Given the description of an element on the screen output the (x, y) to click on. 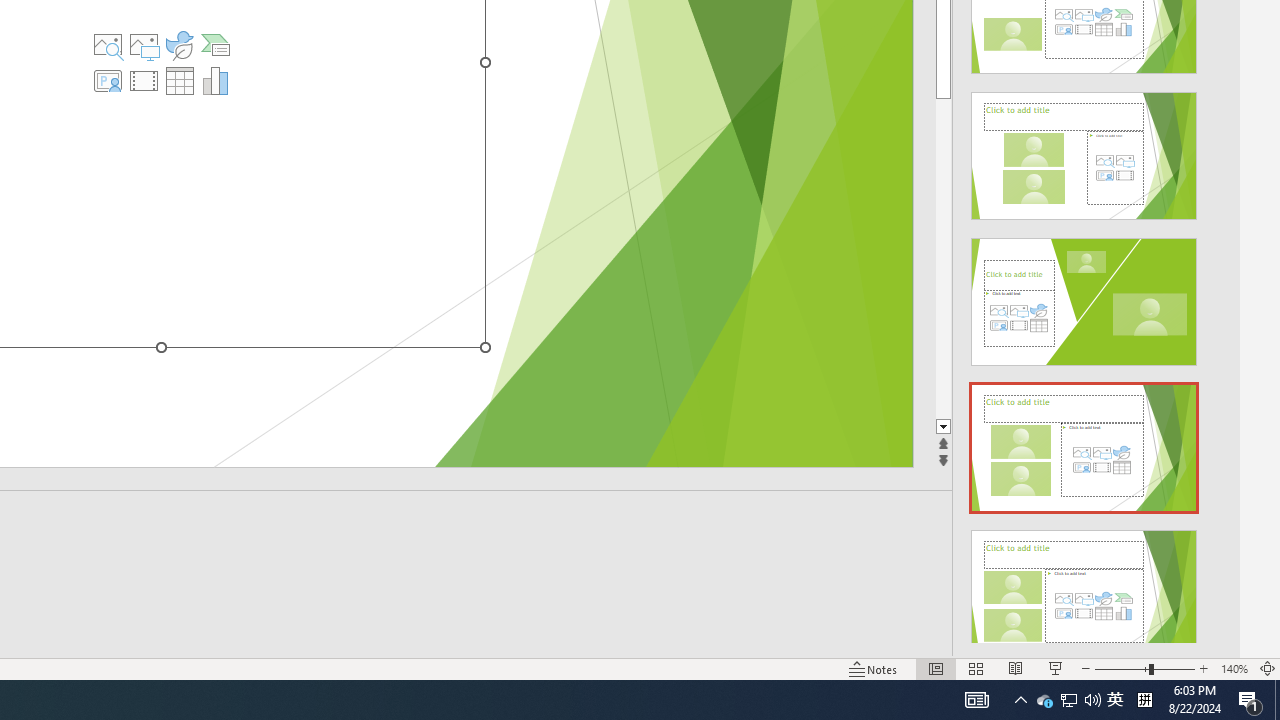
Insert Cameo (108, 80)
Stock Images (108, 44)
Insert a SmartArt Graphic (215, 44)
